Given the description of an element on the screen output the (x, y) to click on. 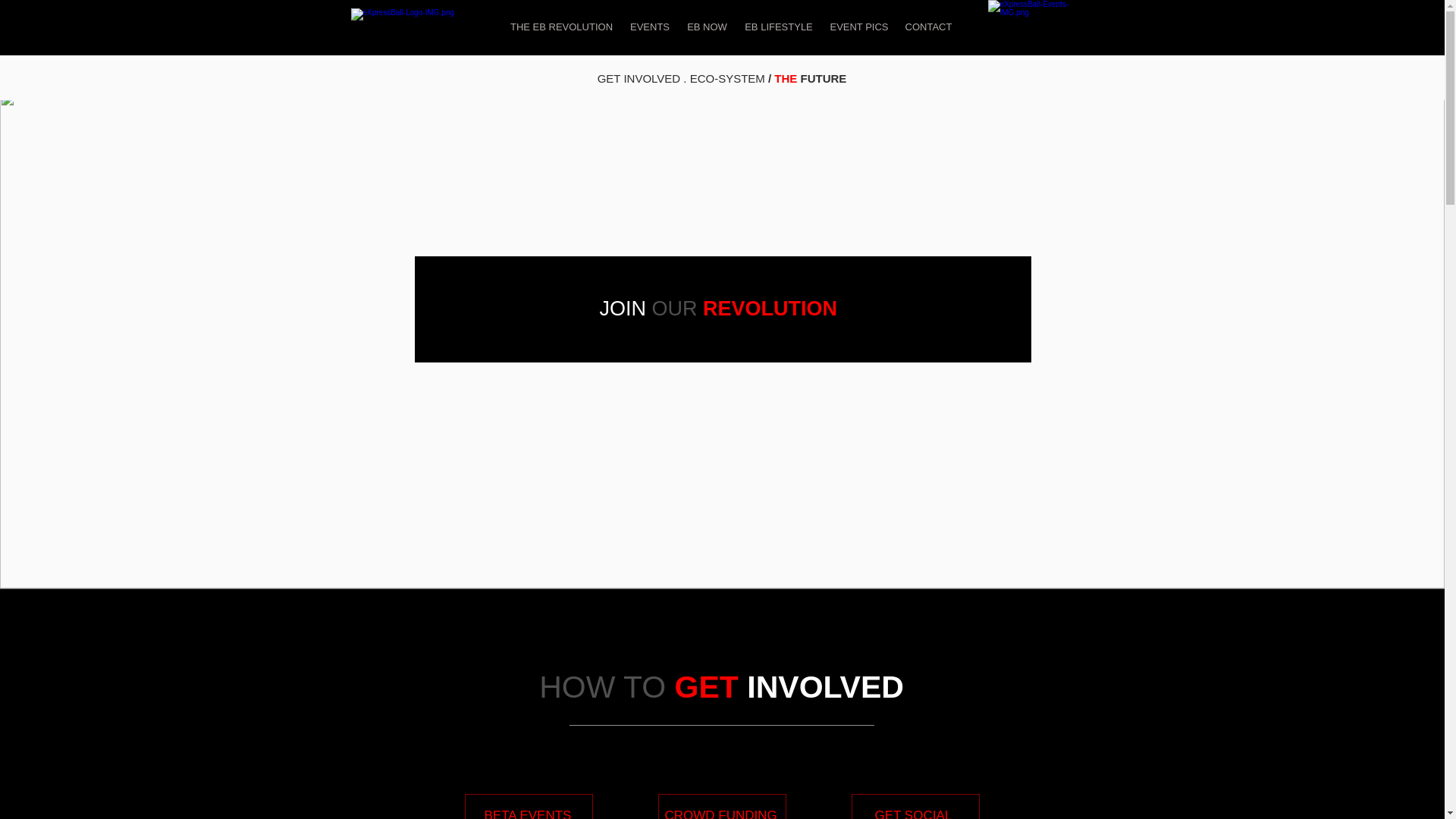
EB LIFESTYLE (778, 26)
EVENT PICS (859, 26)
THE EB REVOLUTION (561, 26)
EVENTS (649, 26)
EB NOW (706, 26)
CONTACT (927, 26)
